Given the description of an element on the screen output the (x, y) to click on. 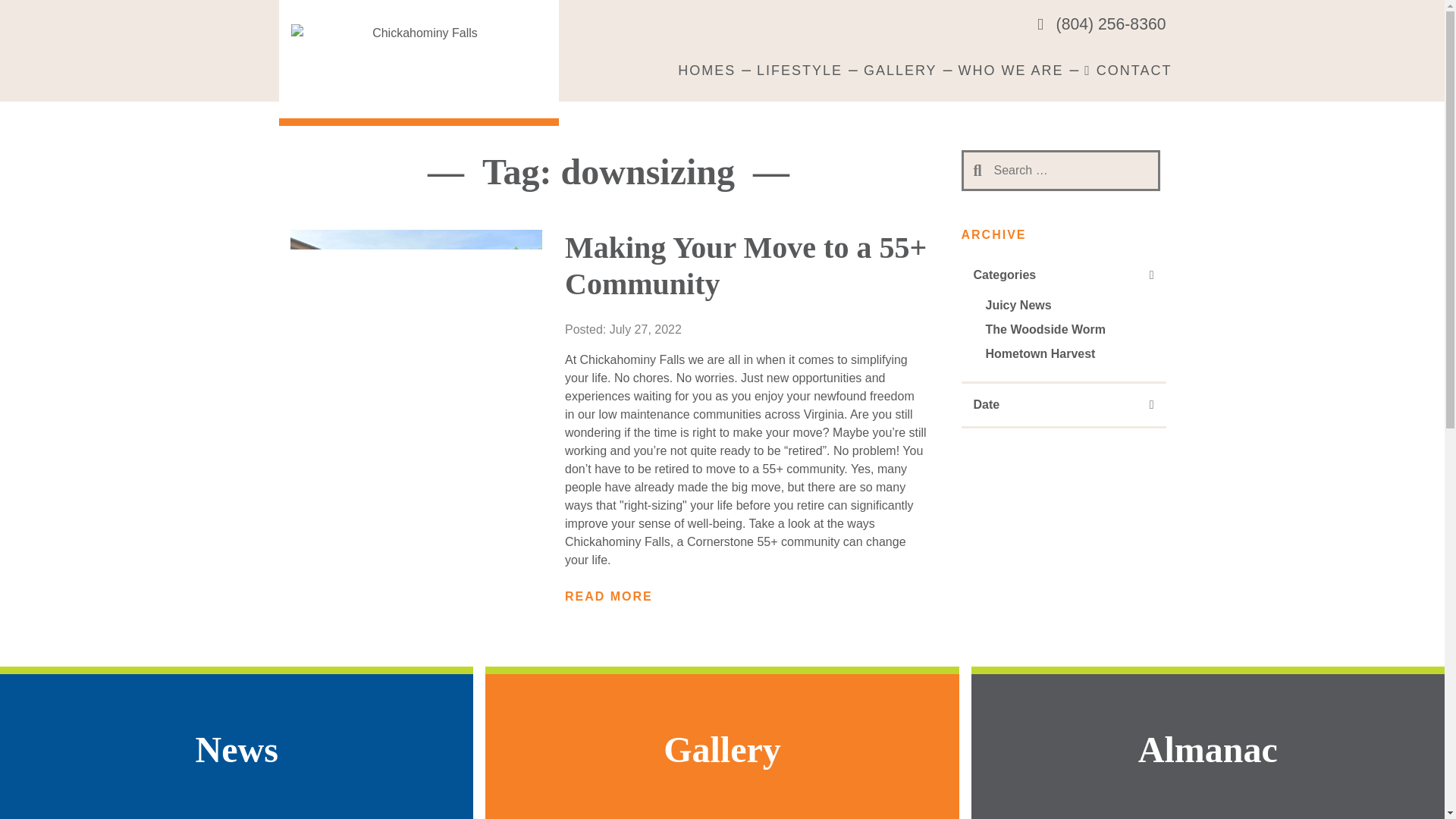
GALLERY (900, 70)
HOMES (706, 70)
WHO WE ARE (1010, 70)
CONTACT (1127, 70)
LIFESTYLE (799, 70)
